Given the description of an element on the screen output the (x, y) to click on. 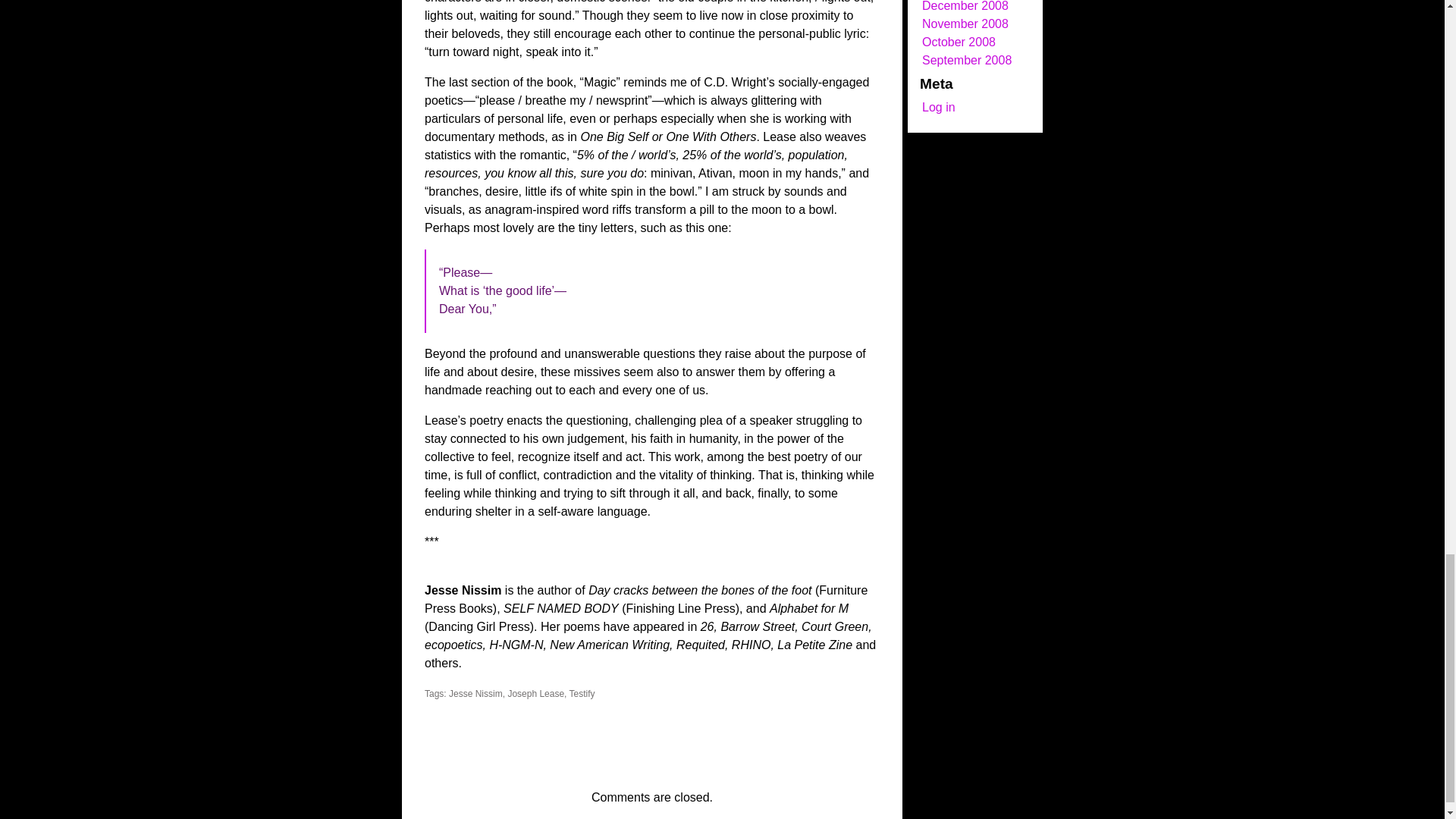
Joseph Lease (535, 693)
Jesse Nissim (475, 693)
Testify (582, 693)
